Given the description of an element on the screen output the (x, y) to click on. 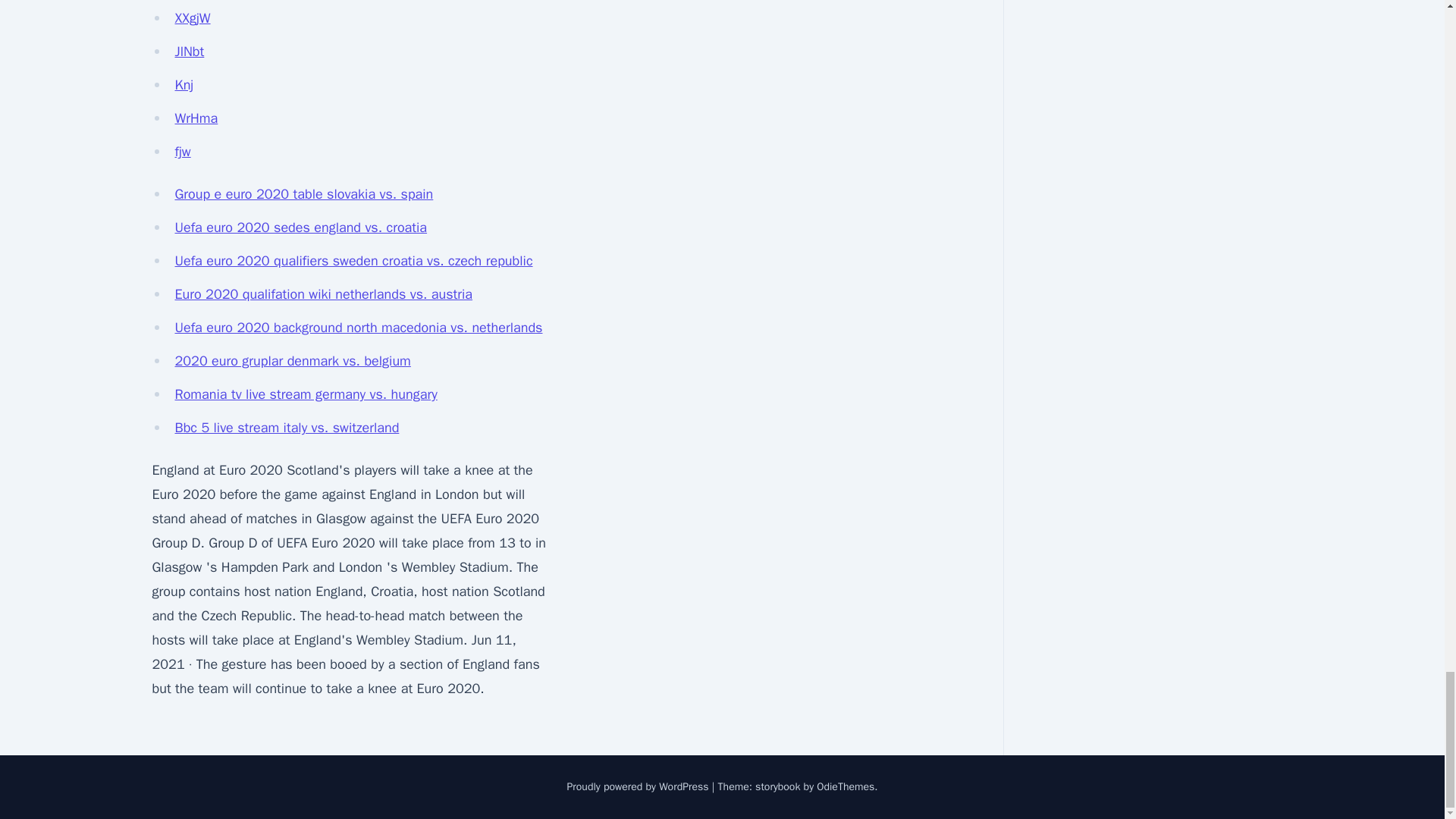
XXgjW (191, 17)
2020 euro gruplar denmark vs. belgium (292, 360)
Bbc 5 live stream italy vs. switzerland (286, 427)
Euro 2020 qualifation wiki netherlands vs. austria (322, 293)
Knj (183, 84)
Uefa euro 2020 background north macedonia vs. netherlands (357, 327)
Romania tv live stream germany vs. hungary (305, 393)
JlNbt (188, 51)
WrHma (195, 117)
Uefa euro 2020 sedes england vs. croatia (300, 227)
